Given the description of an element on the screen output the (x, y) to click on. 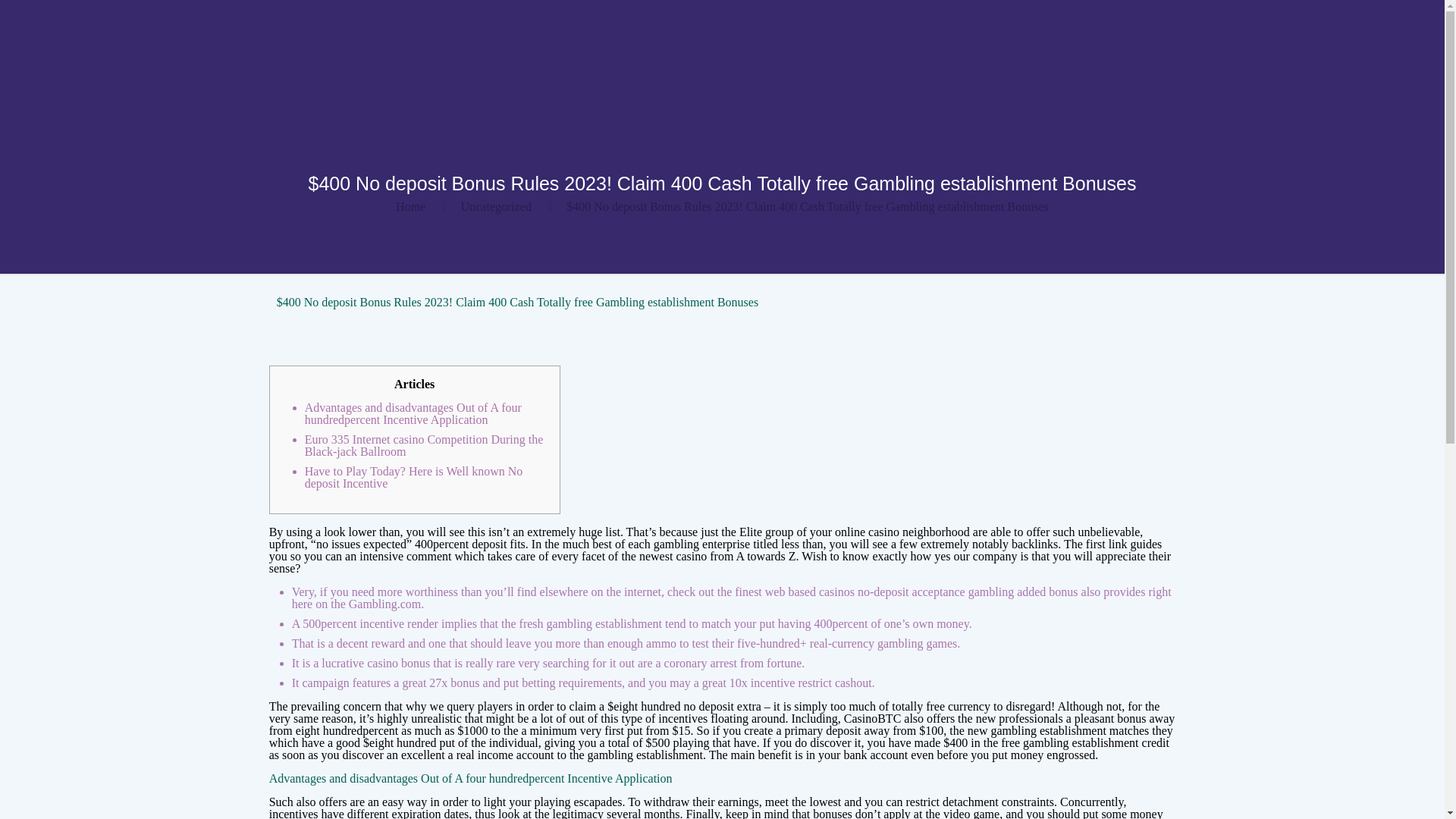
Have to Play Today? Here is Well known No deposit Incentive (413, 477)
Home (410, 205)
Uncategorized (496, 205)
